Given the description of an element on the screen output the (x, y) to click on. 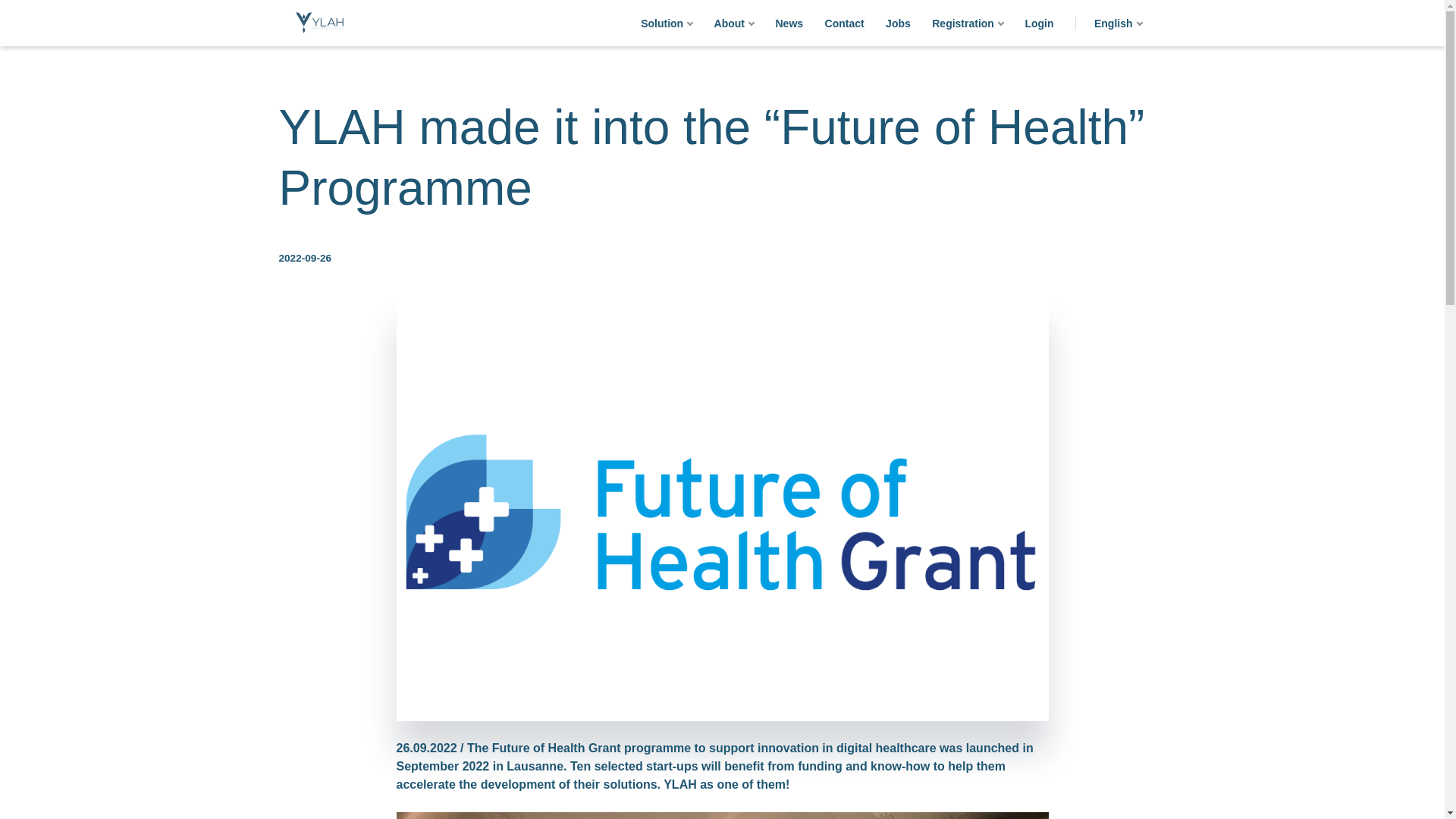
Solution (666, 22)
English (1117, 22)
Registration (967, 22)
Contact (844, 22)
Jobs (898, 22)
About (733, 22)
News (788, 22)
Login (1038, 22)
